Given the description of an element on the screen output the (x, y) to click on. 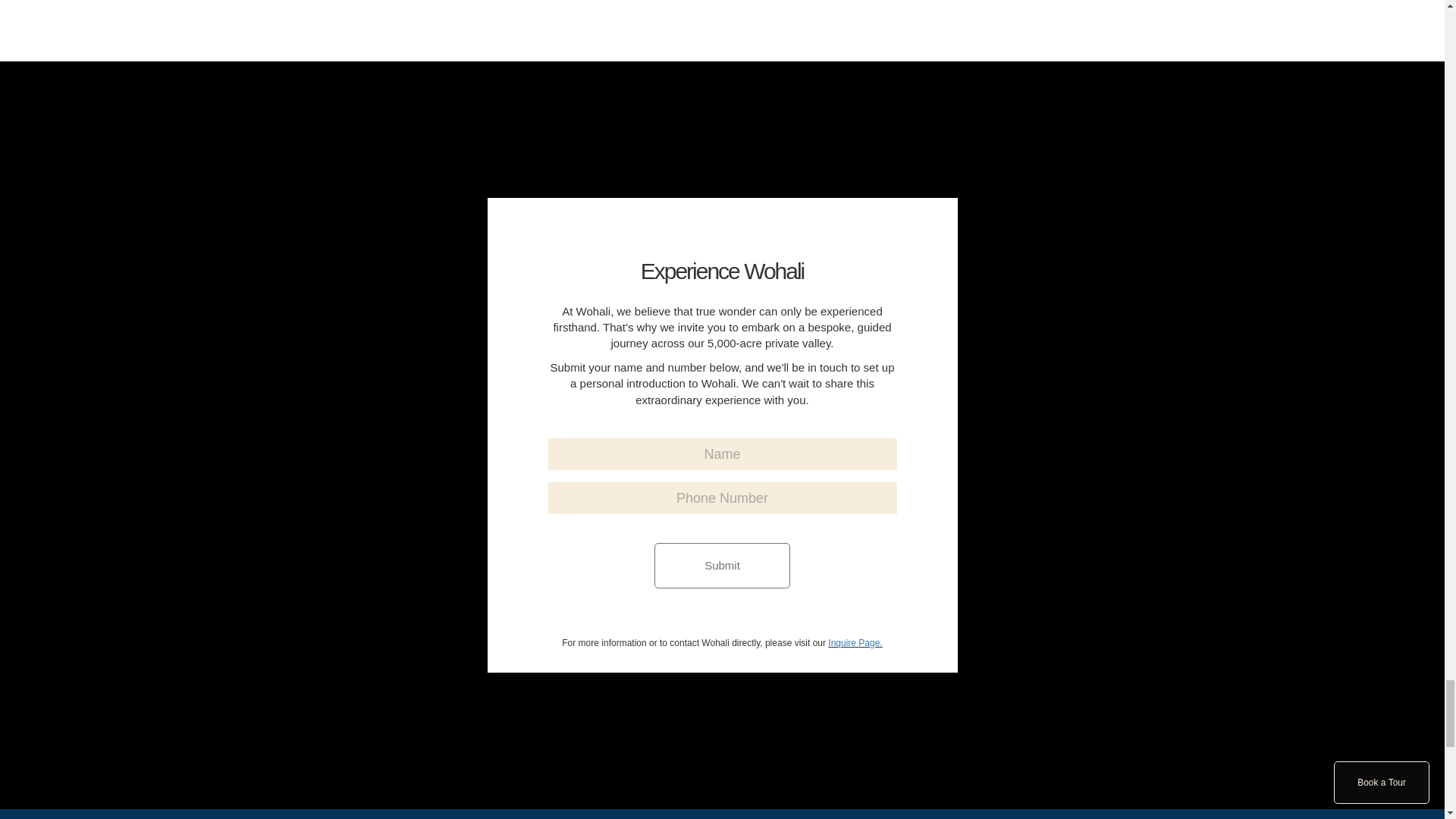
Inquire Page. (855, 643)
Submit (721, 565)
Submit (721, 565)
